Given the description of an element on the screen output the (x, y) to click on. 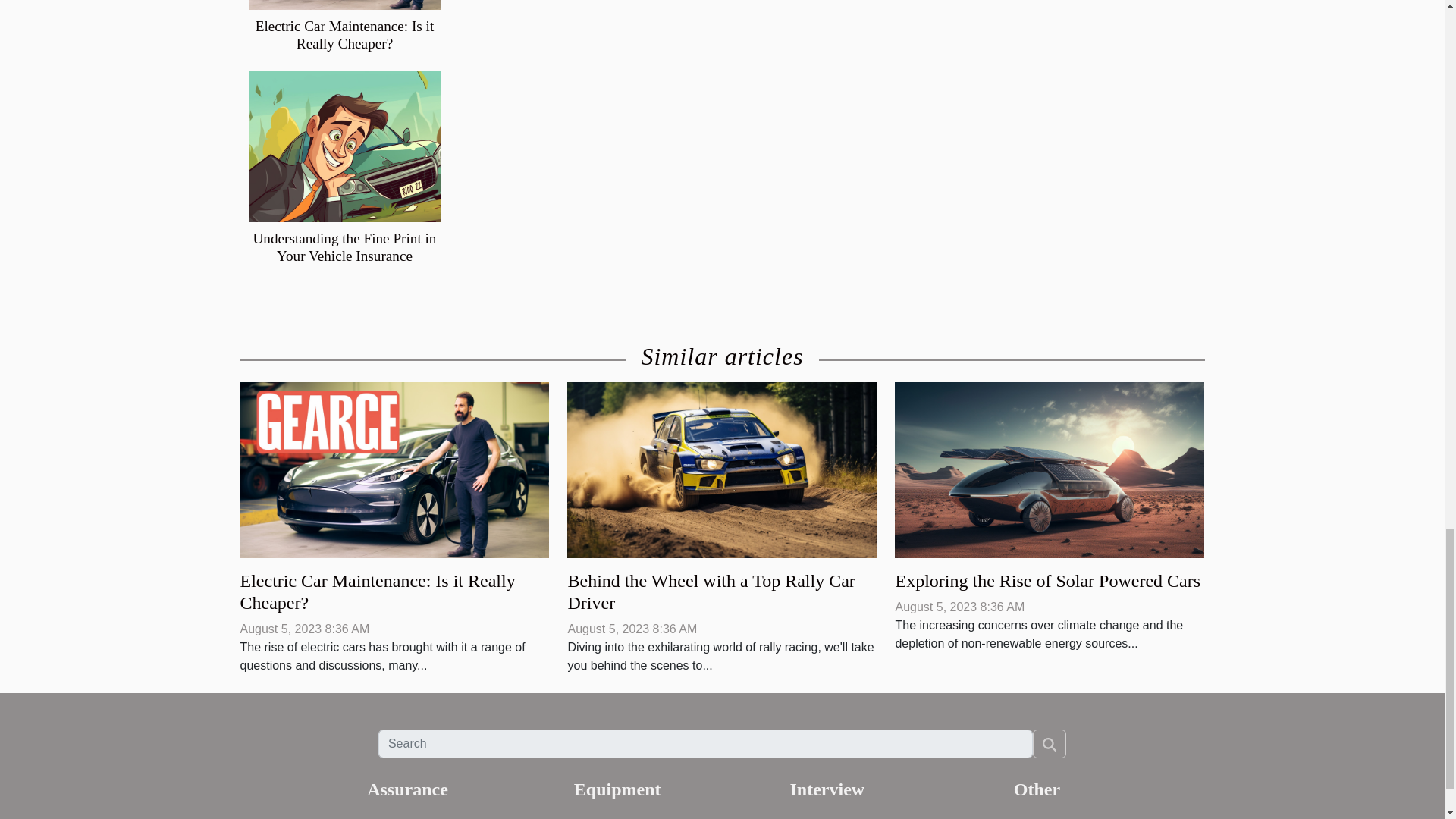
Exploring the Rise of Solar Powered Cars (1047, 580)
Interview (827, 789)
Electric Car Maintenance: Is it Really Cheaper? (377, 591)
Electric Car Maintenance: Is it Really Cheaper? (344, 34)
Assurance (407, 789)
Understanding the Fine Print in Your Vehicle Insurance (344, 246)
Behind the Wheel with a Top Rally Car Driver (710, 591)
Exploring the Rise of Solar Powered Cars (1047, 580)
Behind the Wheel with a Top Rally Car Driver (721, 468)
Electric Car Maintenance: Is it Really Cheaper? (344, 34)
Understanding the Fine Print in Your Vehicle Insurance (344, 246)
Understanding the Fine Print in Your Vehicle Insurance (343, 145)
Interview (827, 789)
Equipment (617, 789)
Assurance (407, 789)
